Given the description of an element on the screen output the (x, y) to click on. 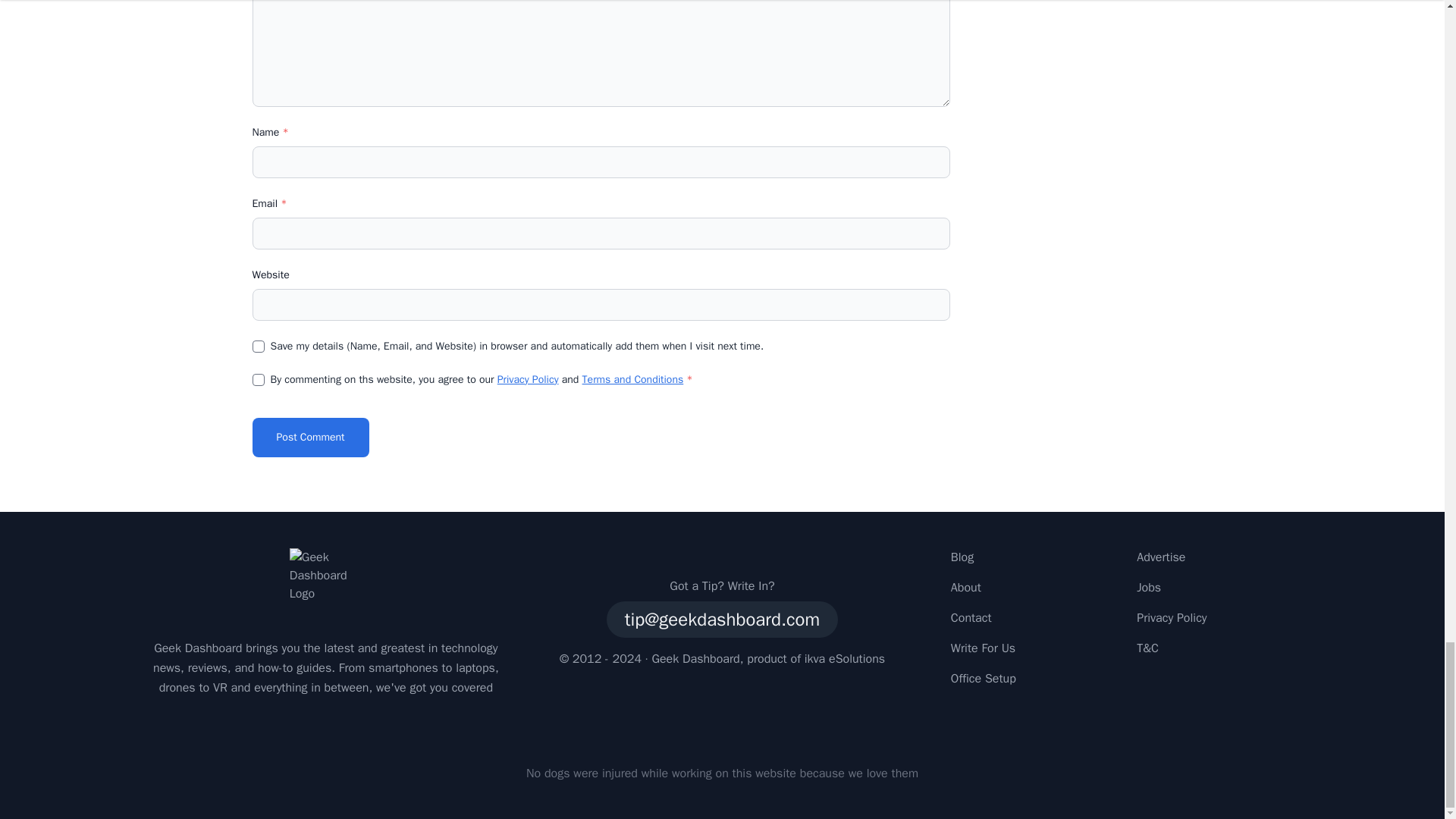
Post Comment (309, 437)
on (257, 379)
yes (257, 346)
